Given the description of an element on the screen output the (x, y) to click on. 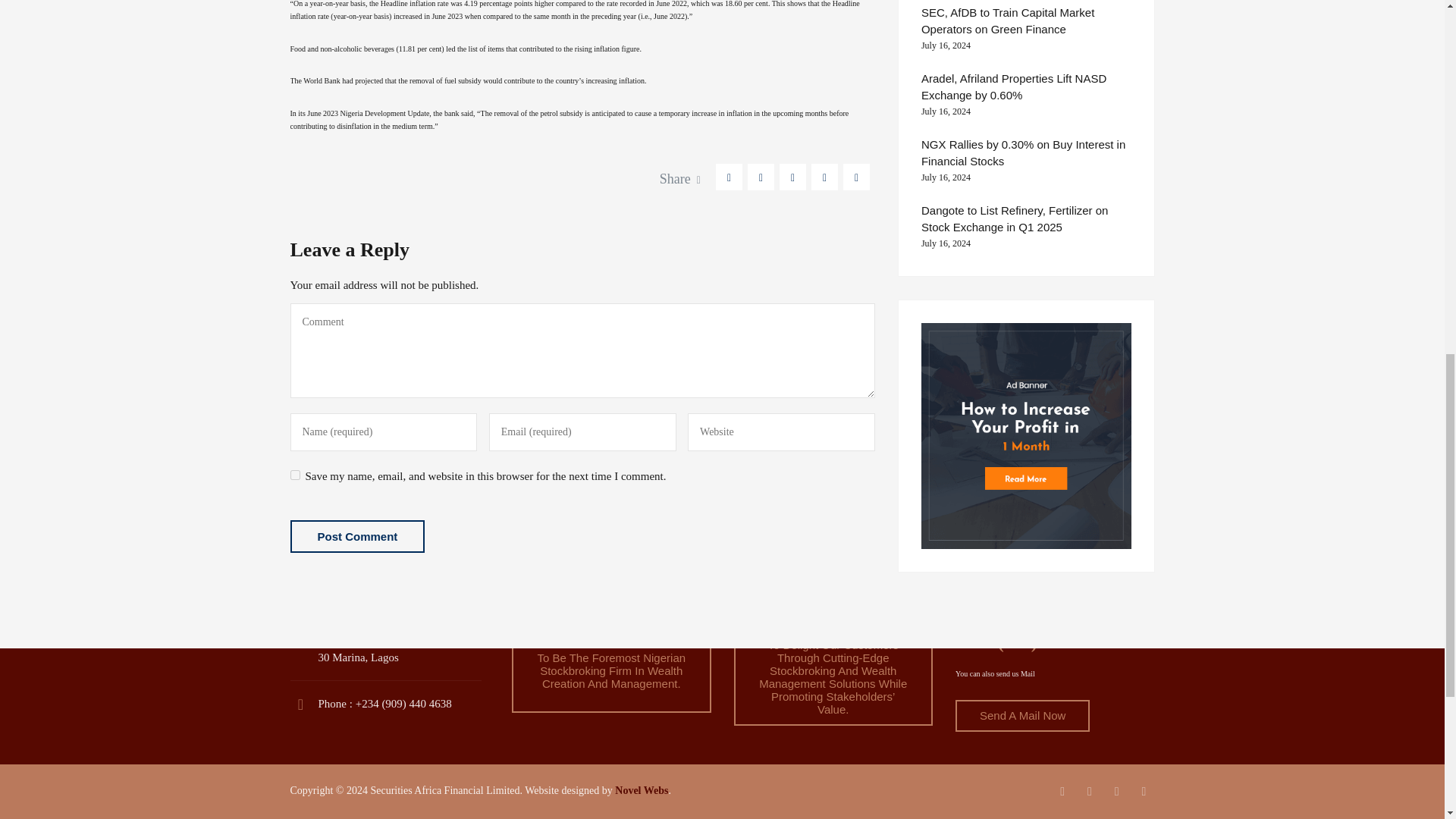
yes (294, 474)
Post Comment (357, 536)
Post Comment (357, 536)
SEC, AfDB to Train Capital Market Operators on Green Finance (1026, 20)
